Given the description of an element on the screen output the (x, y) to click on. 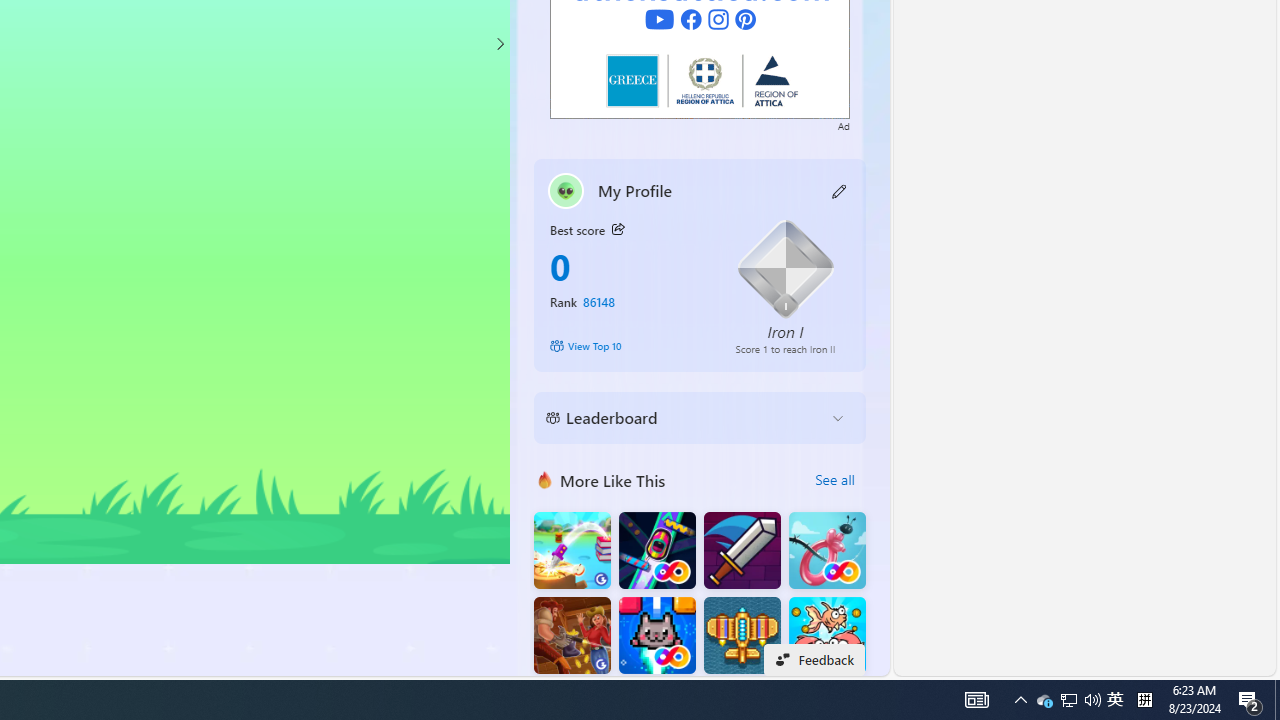
Balloon FRVR (827, 550)
Saloon Robbery (571, 635)
See all (834, 479)
See all (834, 479)
Bumper Car FRVR (657, 550)
Class: control (499, 43)
Dungeon Master Knight (742, 550)
Fish Merge FRVR (827, 635)
More Like This (544, 479)
Kitten Force FRVR (657, 635)
Class: button (617, 229)
Class: button edit-icon (839, 190)
